Given the description of an element on the screen output the (x, y) to click on. 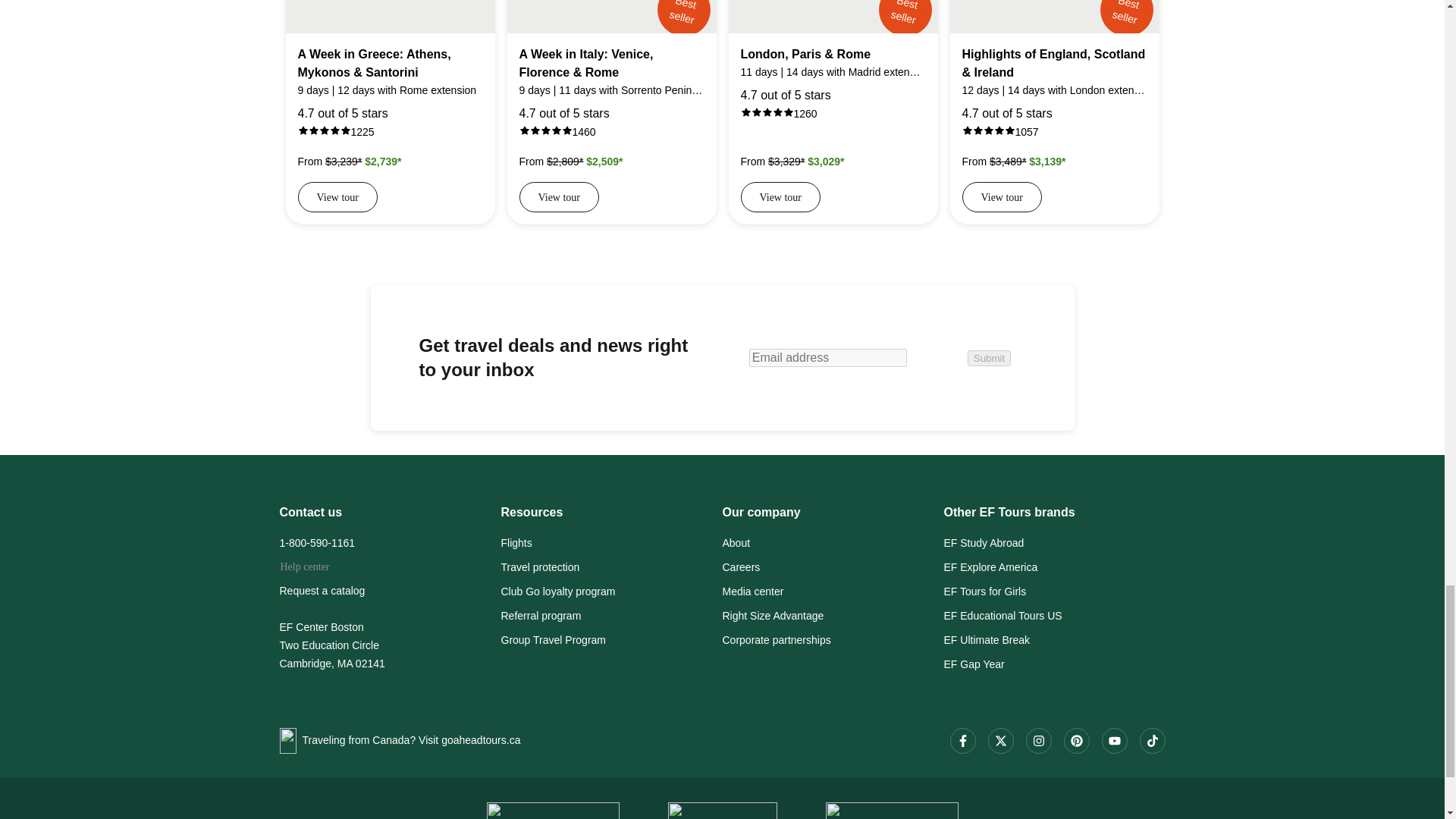
1-800-590-1161 (389, 545)
Submit (989, 358)
Help center (304, 569)
Request a catalog (389, 593)
